Given the description of an element on the screen output the (x, y) to click on. 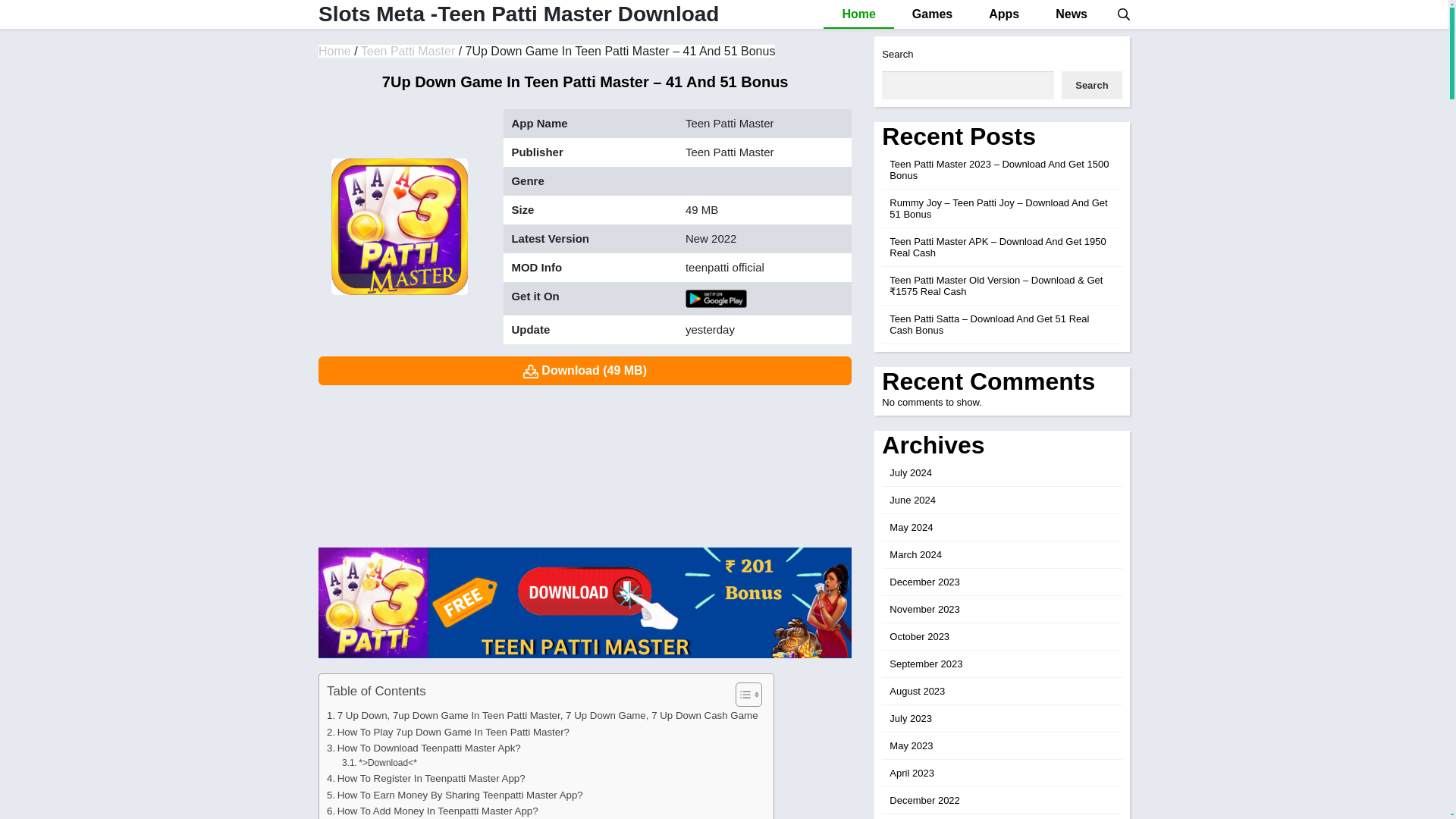
Home (334, 51)
How To Play 7up Down Game In Teen Patti Master? (447, 731)
Apps (1003, 14)
Advertisement (584, 463)
Games (932, 14)
How To Register In Teenpatti Master App? (425, 778)
Slots Meta -Teen Patti Master Download  (334, 51)
News (1070, 14)
How To Play 7up Down Game In Teen Patti Master? (447, 731)
Teen Patti Master (408, 51)
